Given the description of an element on the screen output the (x, y) to click on. 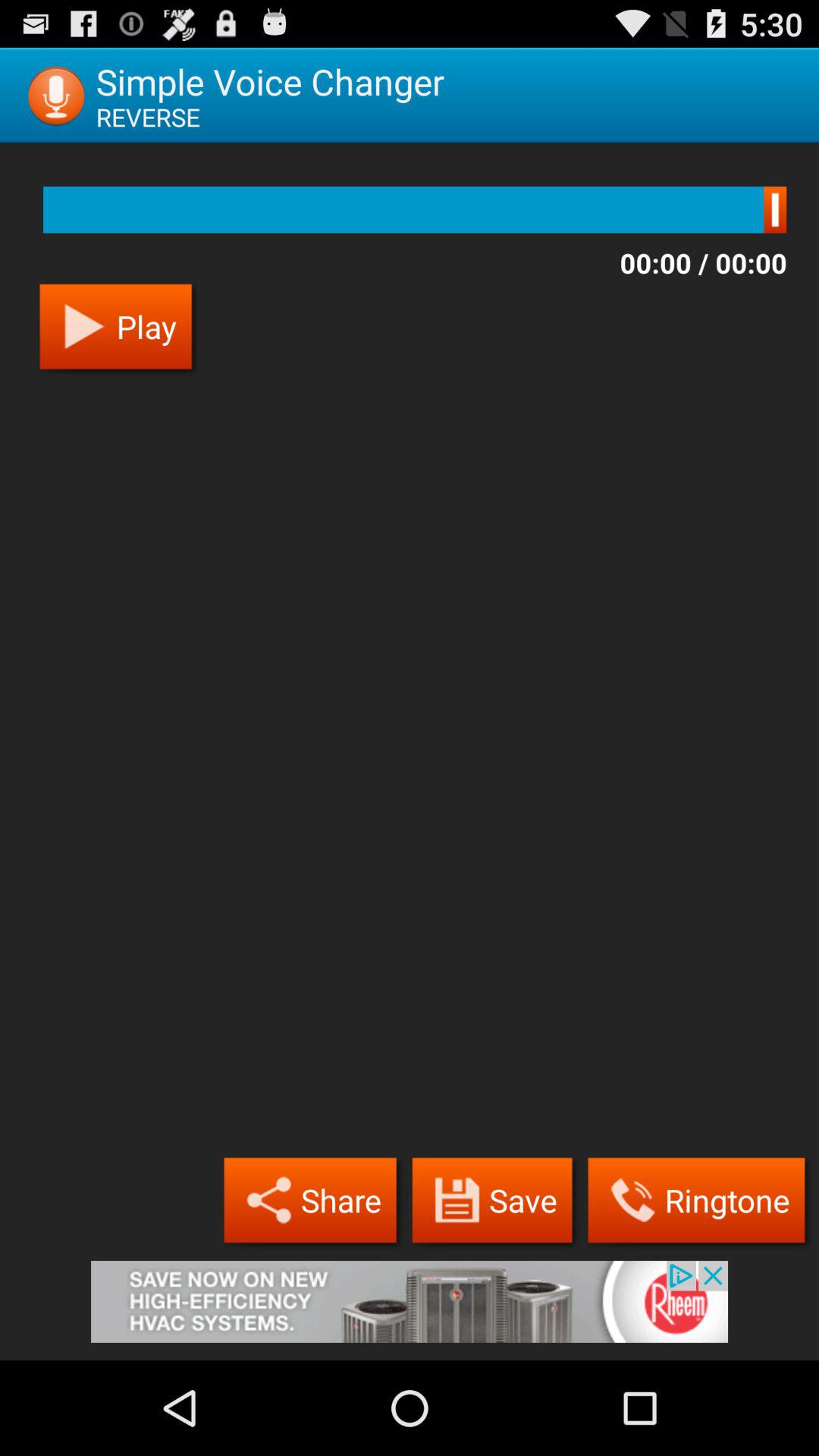
view advertisement (409, 1310)
